Given the description of an element on the screen output the (x, y) to click on. 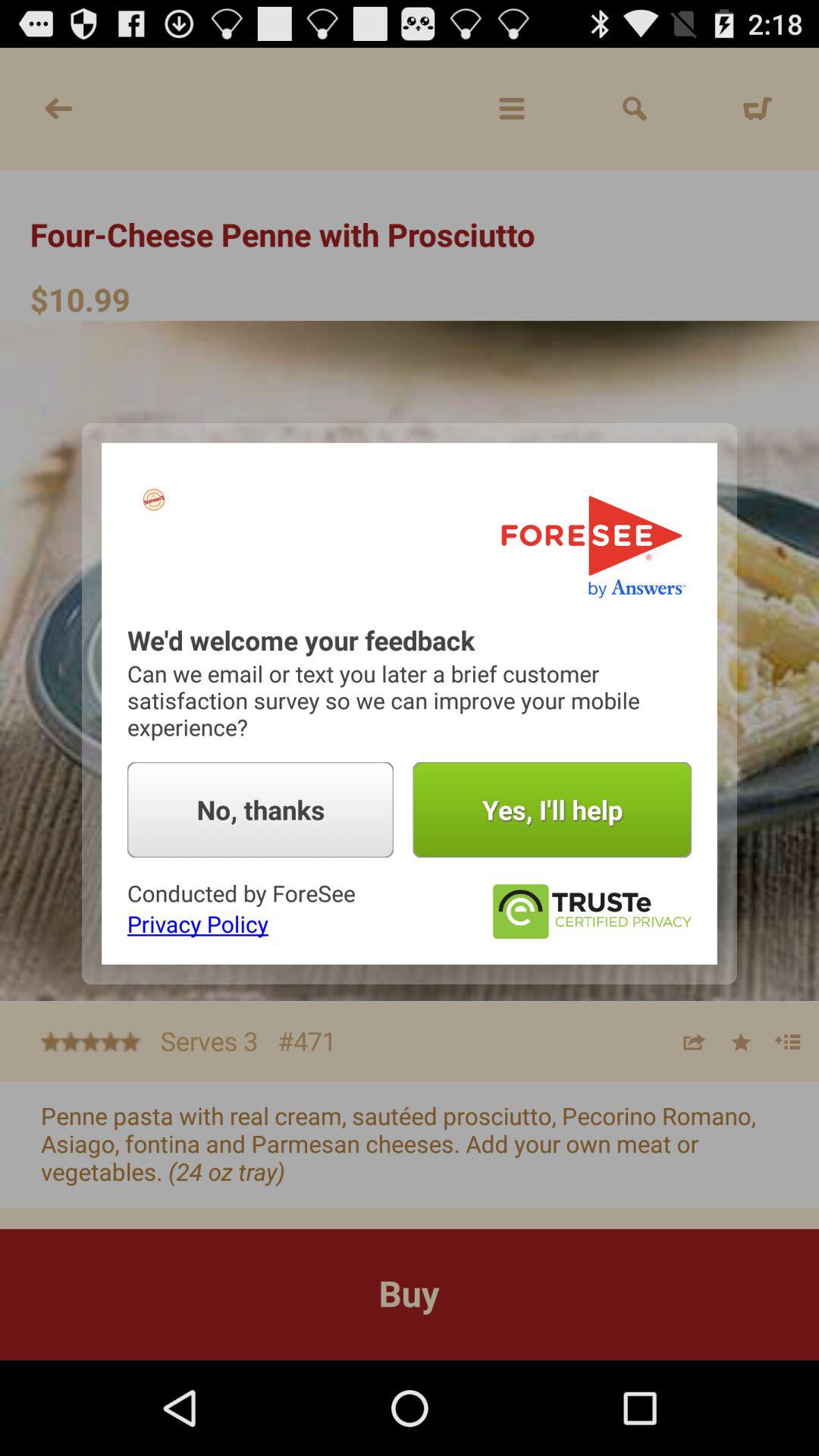
it certifies to me thats its trusted quality (591, 911)
